Given the description of an element on the screen output the (x, y) to click on. 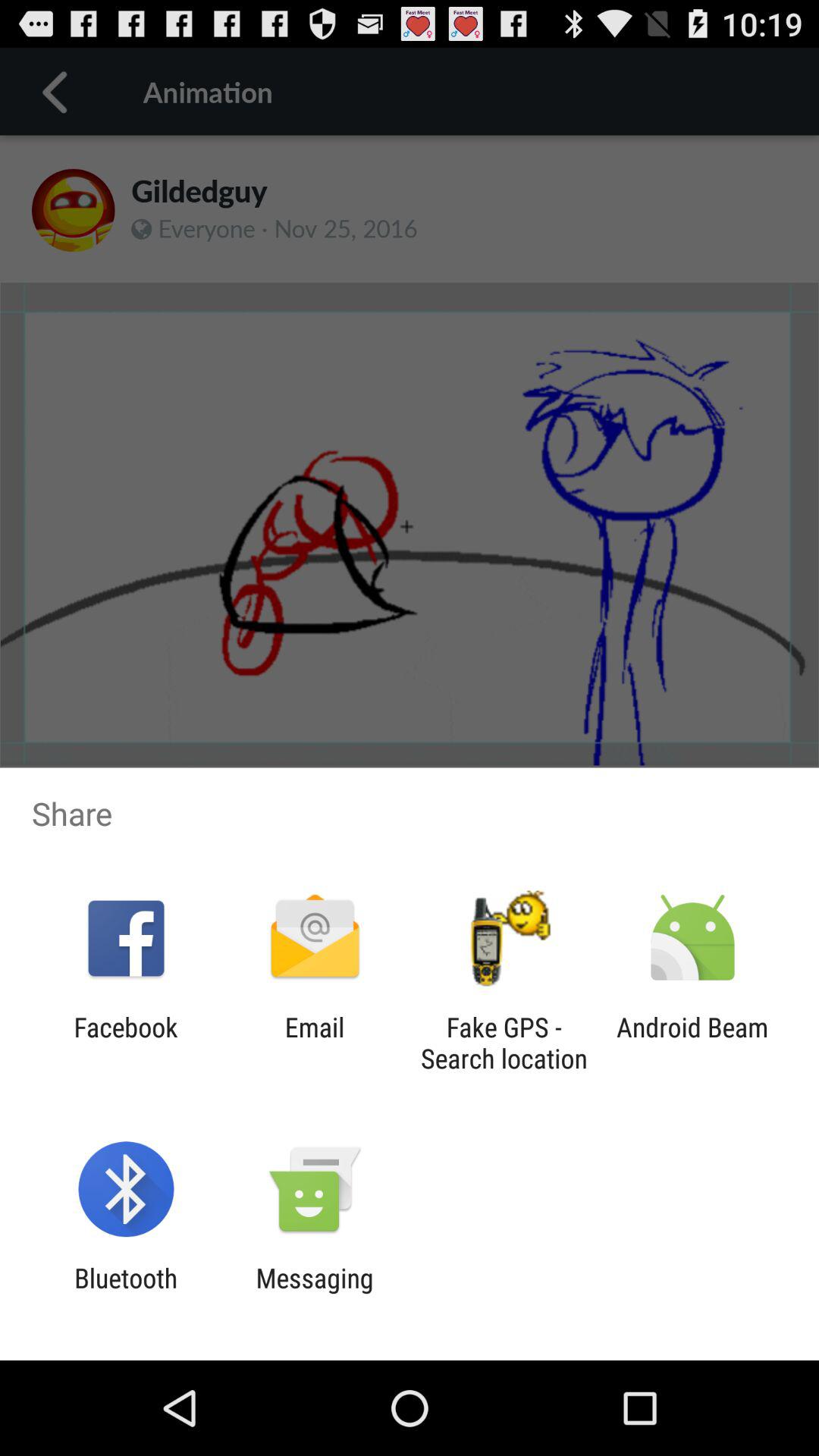
turn off the fake gps search item (503, 1042)
